Given the description of an element on the screen output the (x, y) to click on. 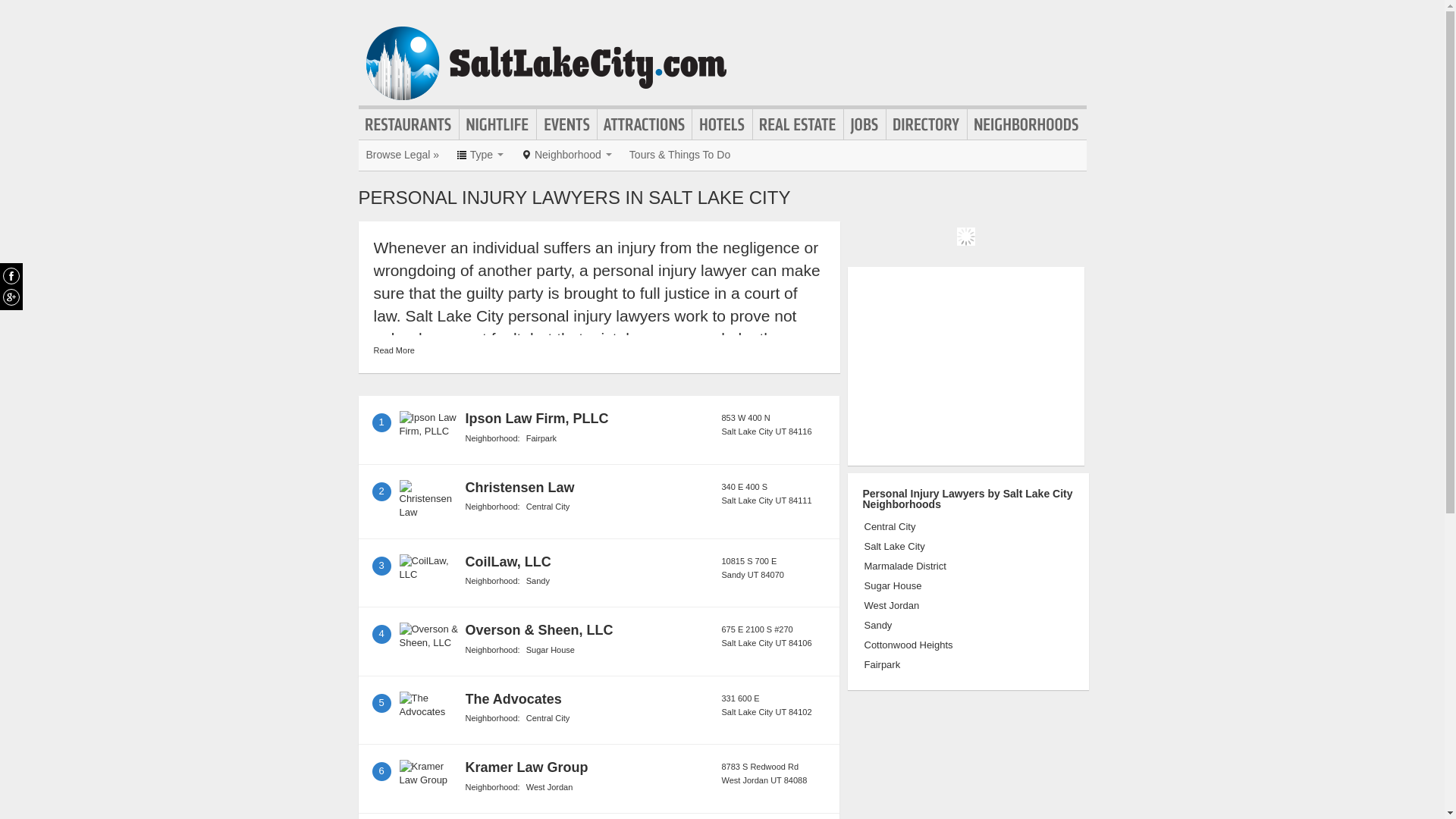
Jobs (864, 124)
Neighborhoods (1027, 124)
Nightlife (497, 124)
Neighborhood (566, 154)
Type (480, 154)
Hotels (722, 124)
Real Estate (797, 124)
Directory (926, 124)
Events (566, 124)
Attractions (643, 124)
